Given the description of an element on the screen output the (x, y) to click on. 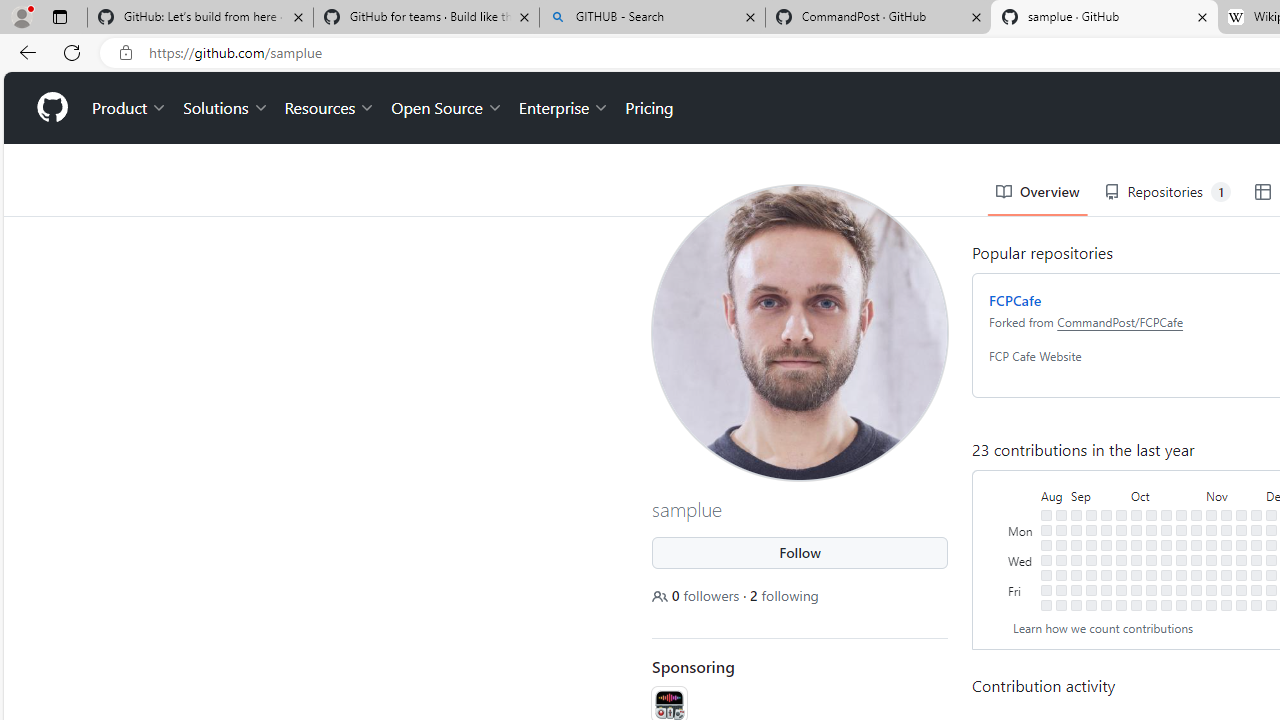
No contributions on November 14th. (1226, 544)
No contributions on October 29th. (1195, 515)
No contributions on October 1st. (1136, 515)
No contributions on December 9th. (1271, 605)
No contributions on September 3rd. (1076, 515)
Open Source (446, 107)
No contributions on November 2nd. (1195, 574)
No contributions on September 21st. (1106, 574)
